Given the description of an element on the screen output the (x, y) to click on. 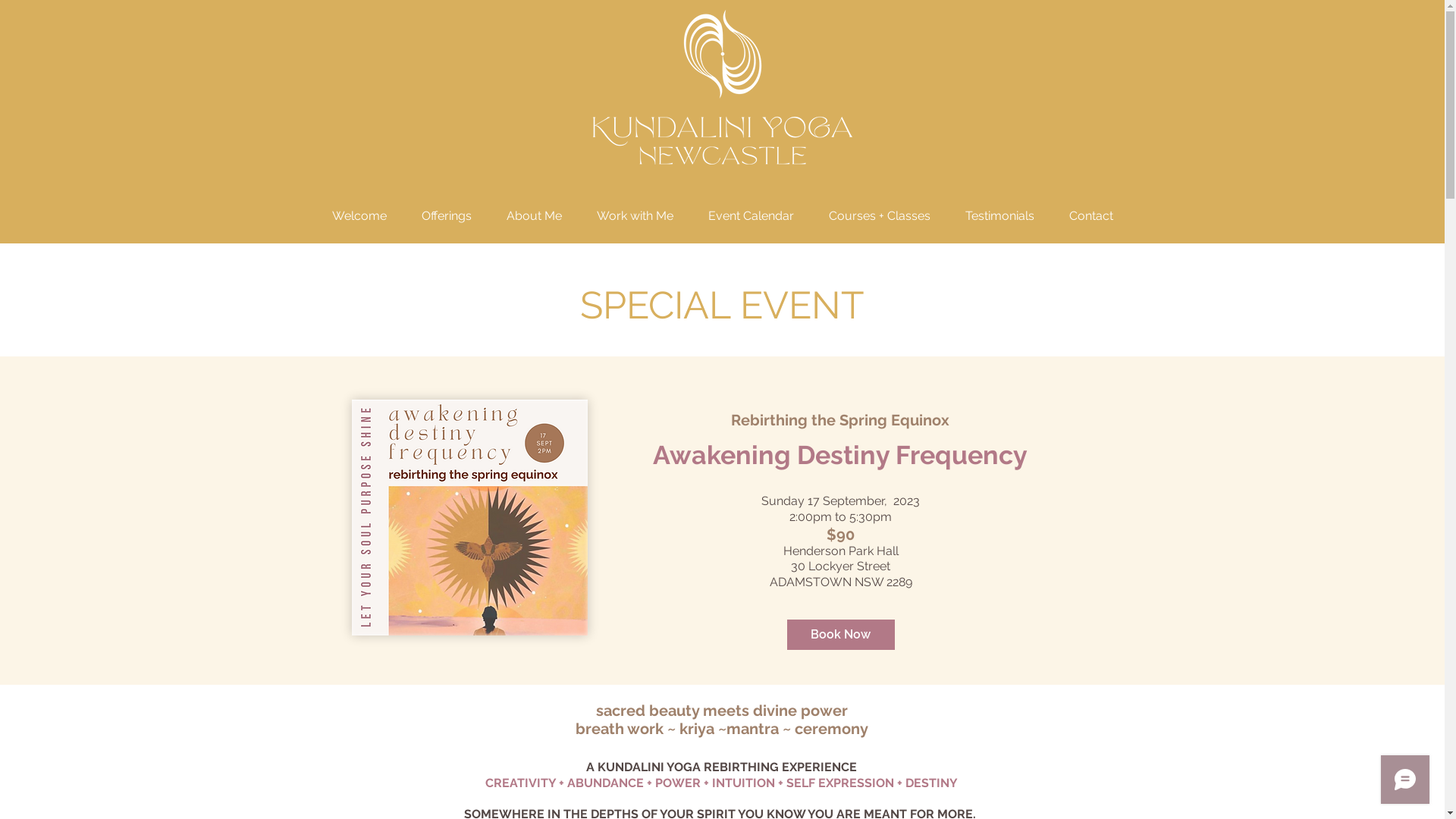
Book Now Element type: text (840, 634)
Testimonials Element type: text (999, 209)
Work with Me Element type: text (634, 209)
About Me Element type: text (533, 209)
Offerings Element type: text (445, 209)
Contact Element type: text (1090, 209)
Event Calendar Element type: text (750, 209)
Courses + Classes Element type: text (879, 209)
Welcome Element type: text (358, 209)
